Given the description of an element on the screen output the (x, y) to click on. 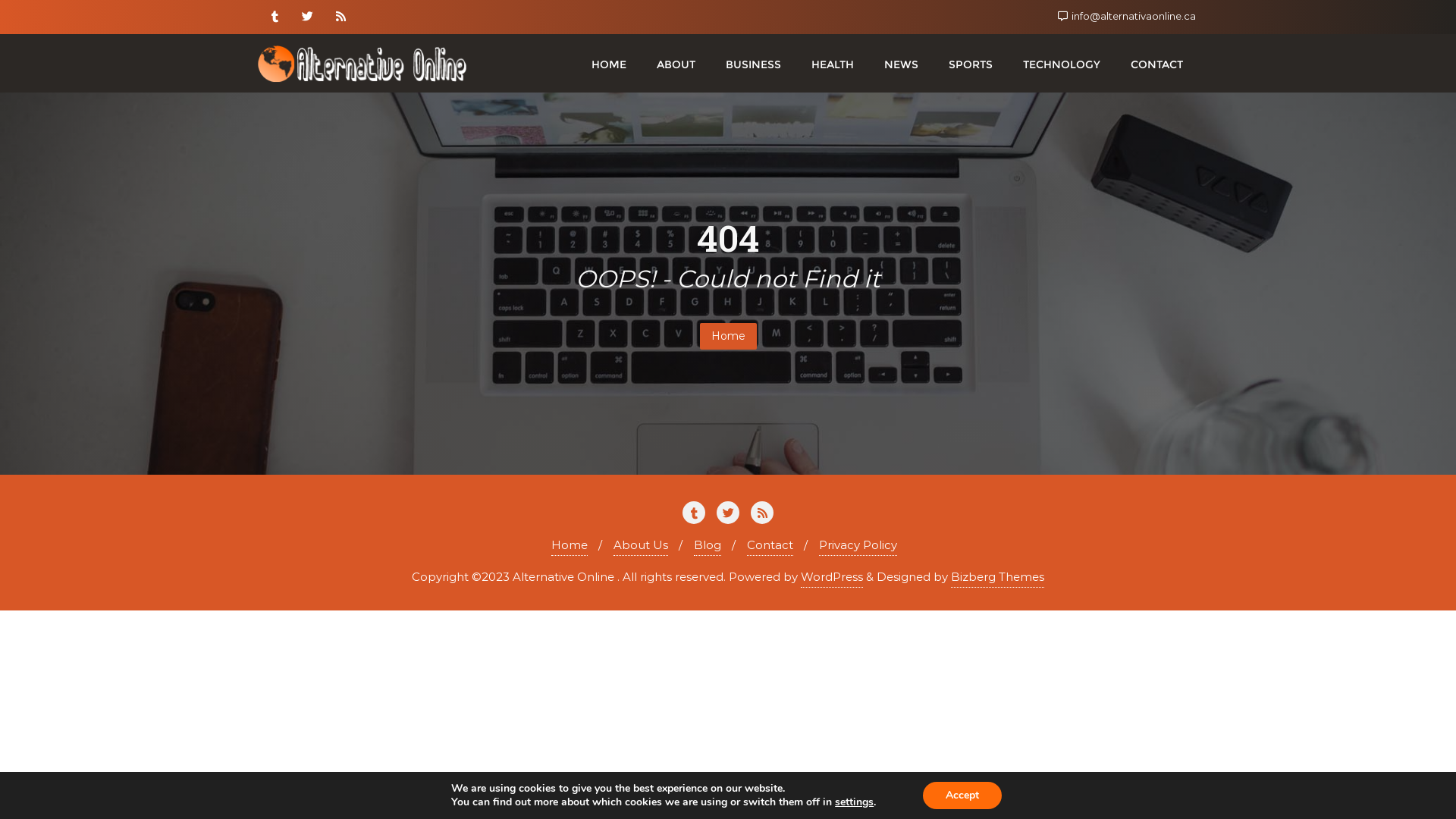
Blog Element type: text (707, 545)
CONTACT Element type: text (1156, 63)
Contact Element type: text (769, 545)
Bizberg Themes Element type: text (997, 577)
Privacy Policy Element type: text (858, 545)
Home Element type: text (569, 545)
About Us Element type: text (640, 545)
TECHNOLOGY Element type: text (1061, 63)
NEWS Element type: text (901, 63)
WordPress Element type: text (831, 577)
BUSINESS Element type: text (753, 63)
HEALTH Element type: text (832, 63)
Accept Element type: text (961, 795)
ABOUT Element type: text (675, 63)
settings Element type: text (853, 802)
HOME Element type: text (608, 63)
Home Element type: text (727, 336)
SPORTS Element type: text (970, 63)
